Given the description of an element on the screen output the (x, y) to click on. 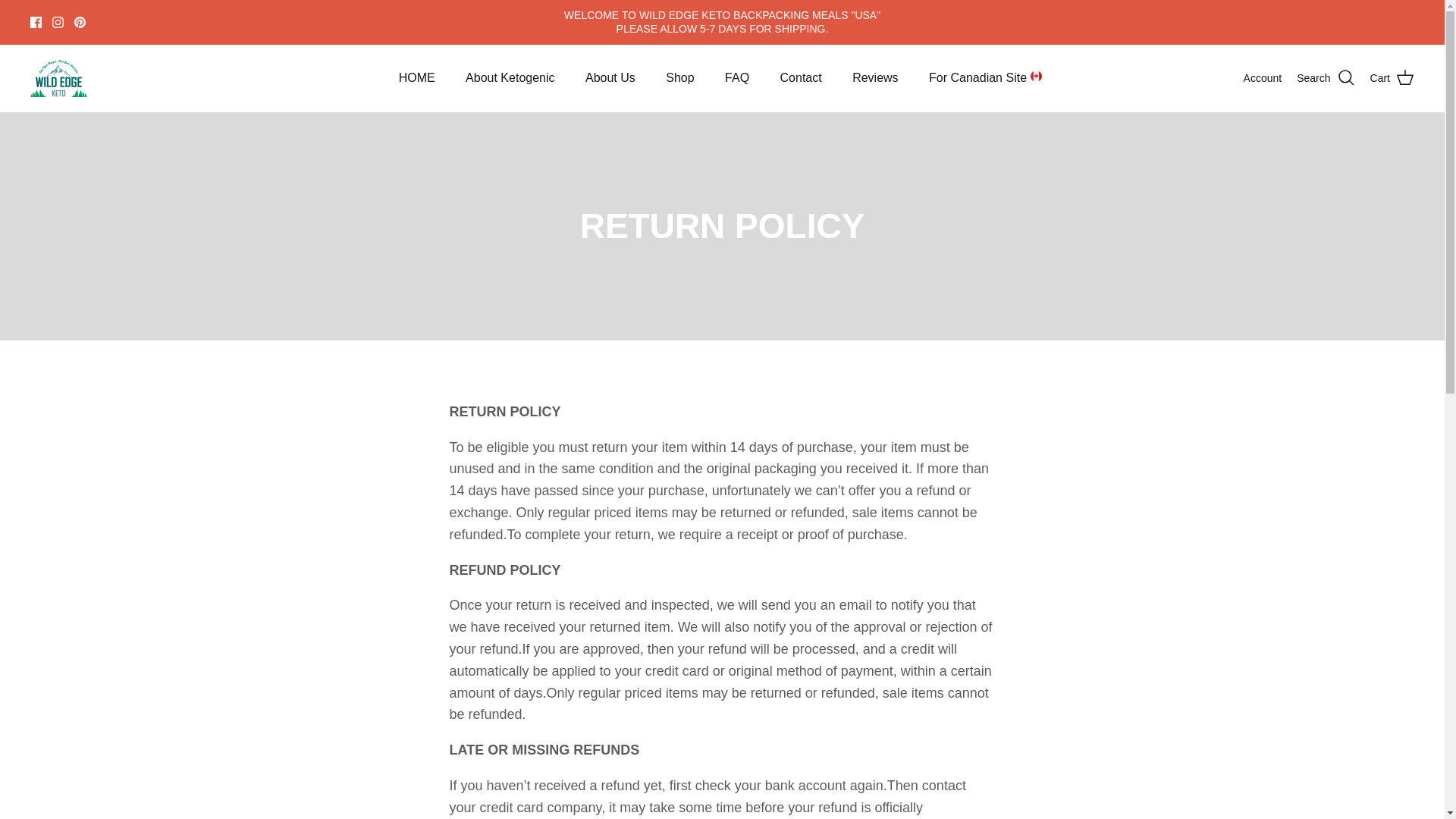
Instagram (58, 21)
Instagram (58, 21)
Pinterest (79, 21)
Wild Edge Keto ltd My Store - USA (58, 78)
For Canadian Site (985, 78)
Search (1325, 77)
Contact (801, 78)
FAQ (736, 78)
Pinterest (79, 21)
About Ketogenic (509, 78)
